Given the description of an element on the screen output the (x, y) to click on. 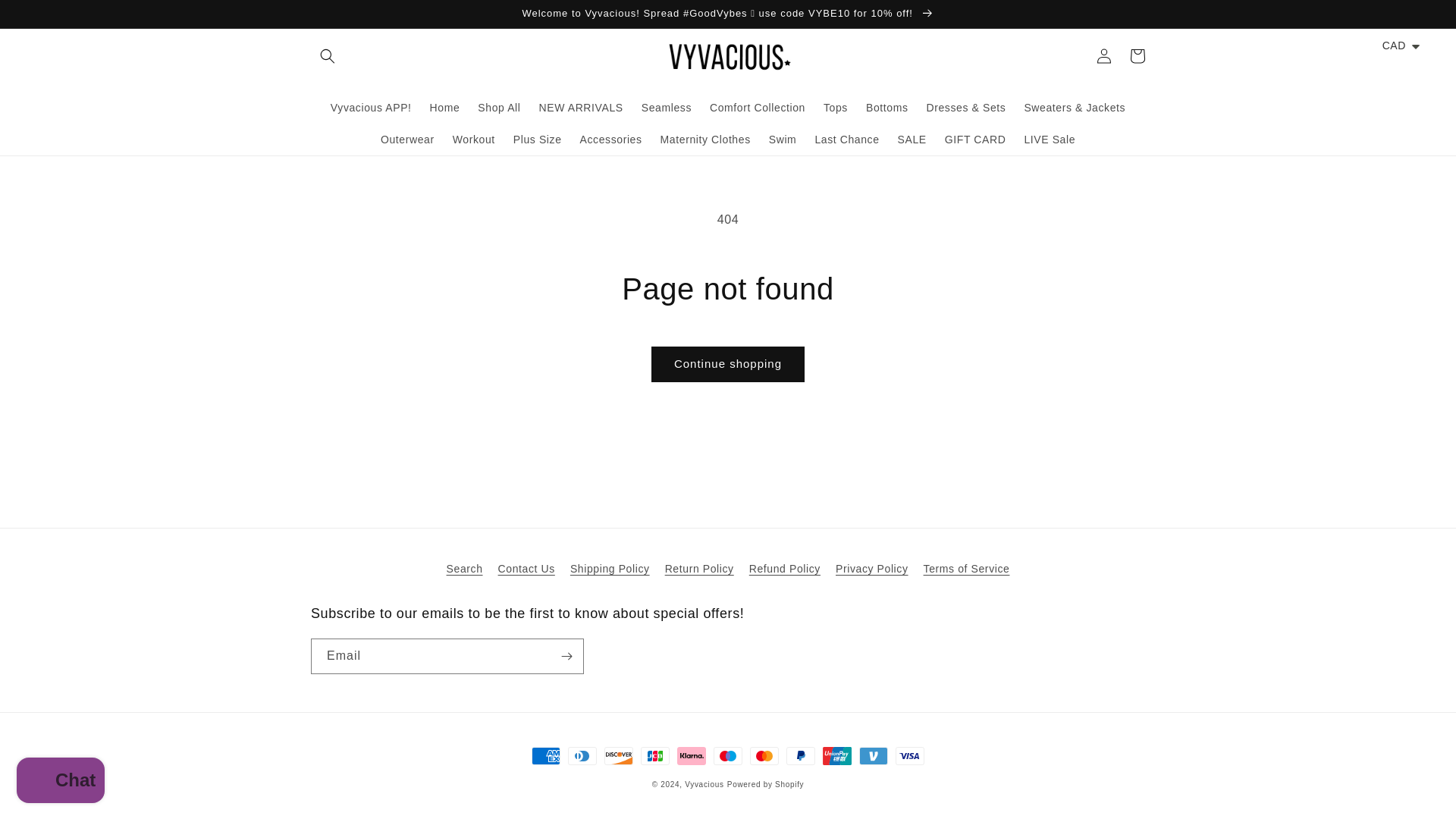
Bottoms (887, 107)
Comfort Collection (756, 107)
Plus Size (536, 139)
Seamless (665, 107)
Vyvacious APP! (370, 107)
Workout (473, 139)
Shopify online store chat (60, 781)
Home (444, 107)
Accessories (610, 139)
Outerwear (407, 139)
